Given the description of an element on the screen output the (x, y) to click on. 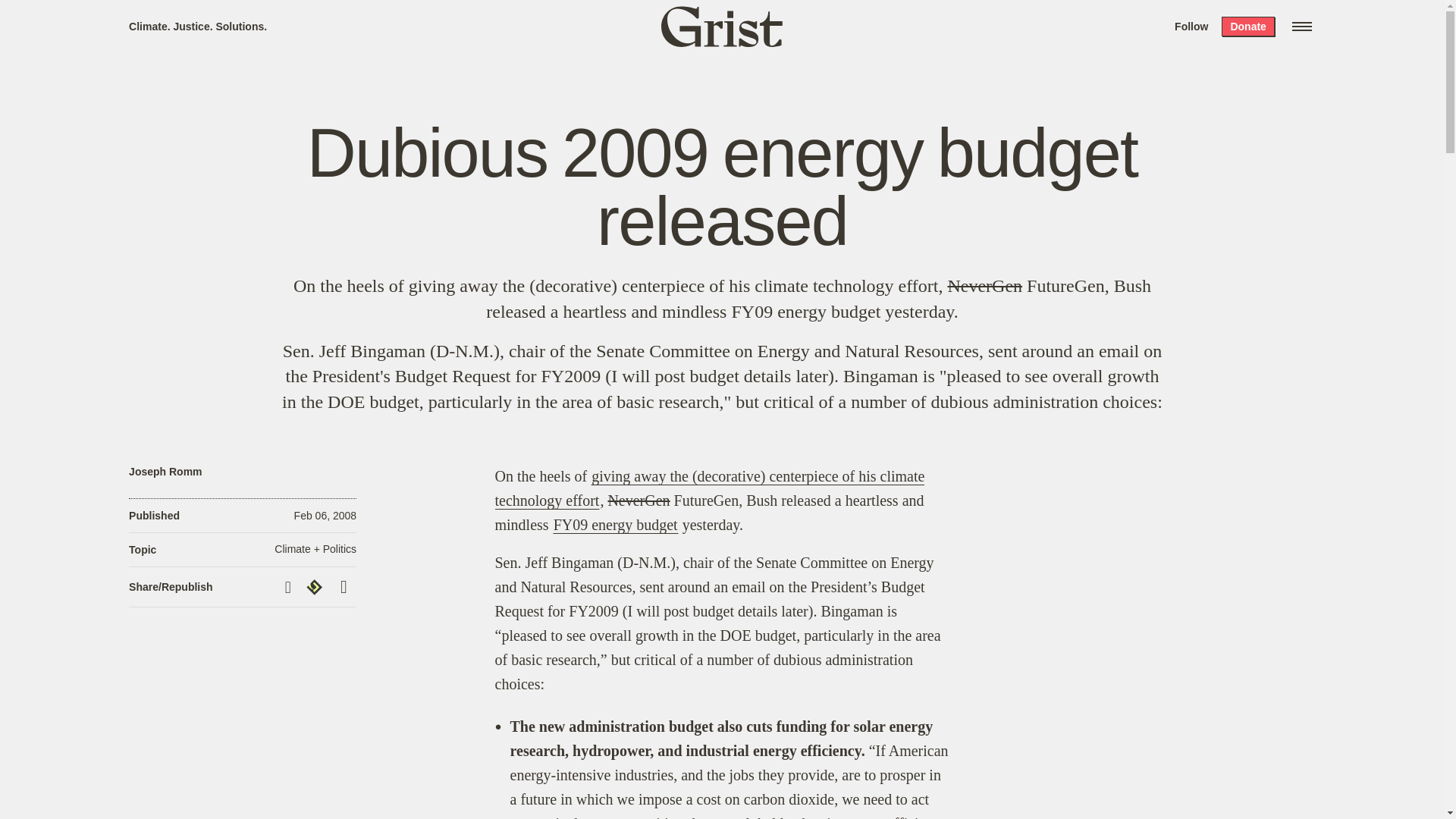
Copy article link (289, 586)
Donate (1247, 26)
Grist home (722, 25)
Search (227, 18)
Republish the article (316, 586)
Follow (1191, 26)
